Given the description of an element on the screen output the (x, y) to click on. 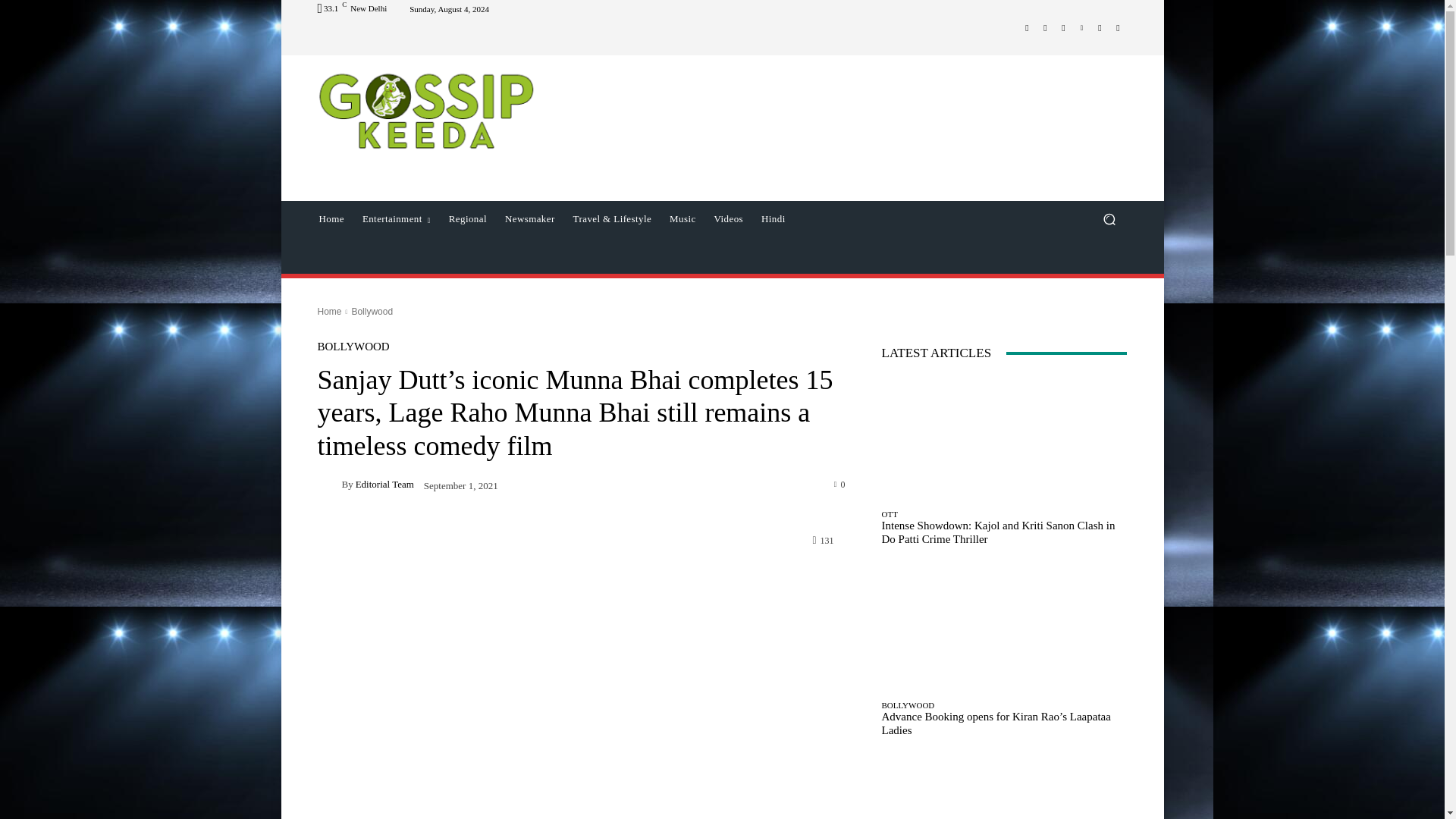
Hindi (773, 218)
Twitter (1062, 27)
RSS (1117, 27)
Medium (1099, 27)
Instagram (1044, 27)
Pinterest (1080, 27)
Videos (728, 218)
Entertainment (396, 218)
Facebook (1026, 27)
Newsmaker (530, 218)
Regional (467, 218)
Music (682, 218)
Home (330, 218)
